Given the description of an element on the screen output the (x, y) to click on. 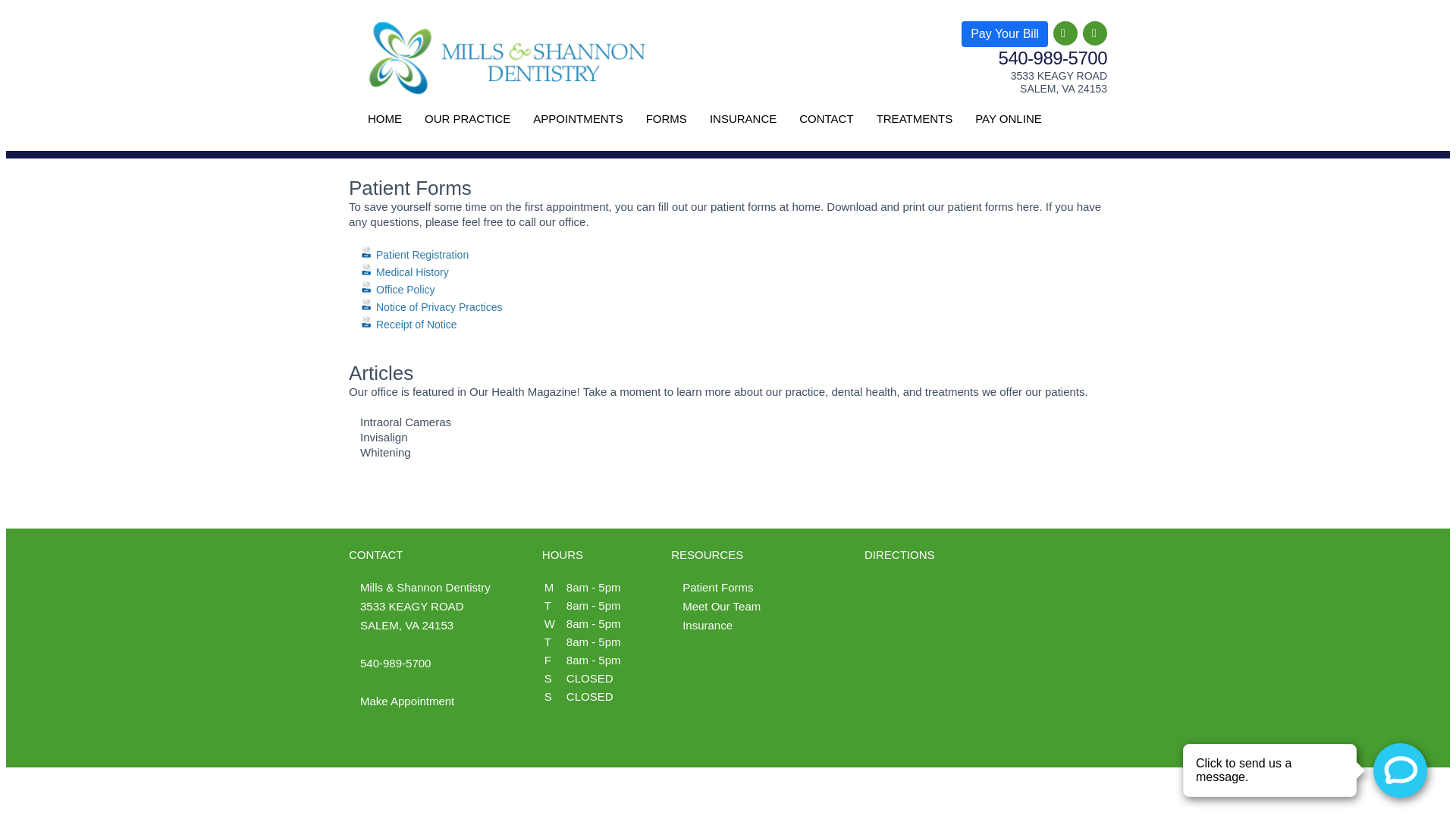
Notice of Privacy Practices (430, 306)
FORMS (666, 117)
Whitening (384, 451)
TREATMENTS (914, 117)
Patient Forms (717, 586)
Pay Your Bill (1004, 33)
Invisalign (383, 436)
Office Policy (397, 289)
Insurance (707, 625)
PAY ONLINE (1008, 117)
DIRECTIONS (899, 554)
OUR PRACTICE (466, 117)
INSURANCE (743, 117)
Make Appointment (406, 700)
Receipt of Notice (408, 324)
